Given the description of an element on the screen output the (x, y) to click on. 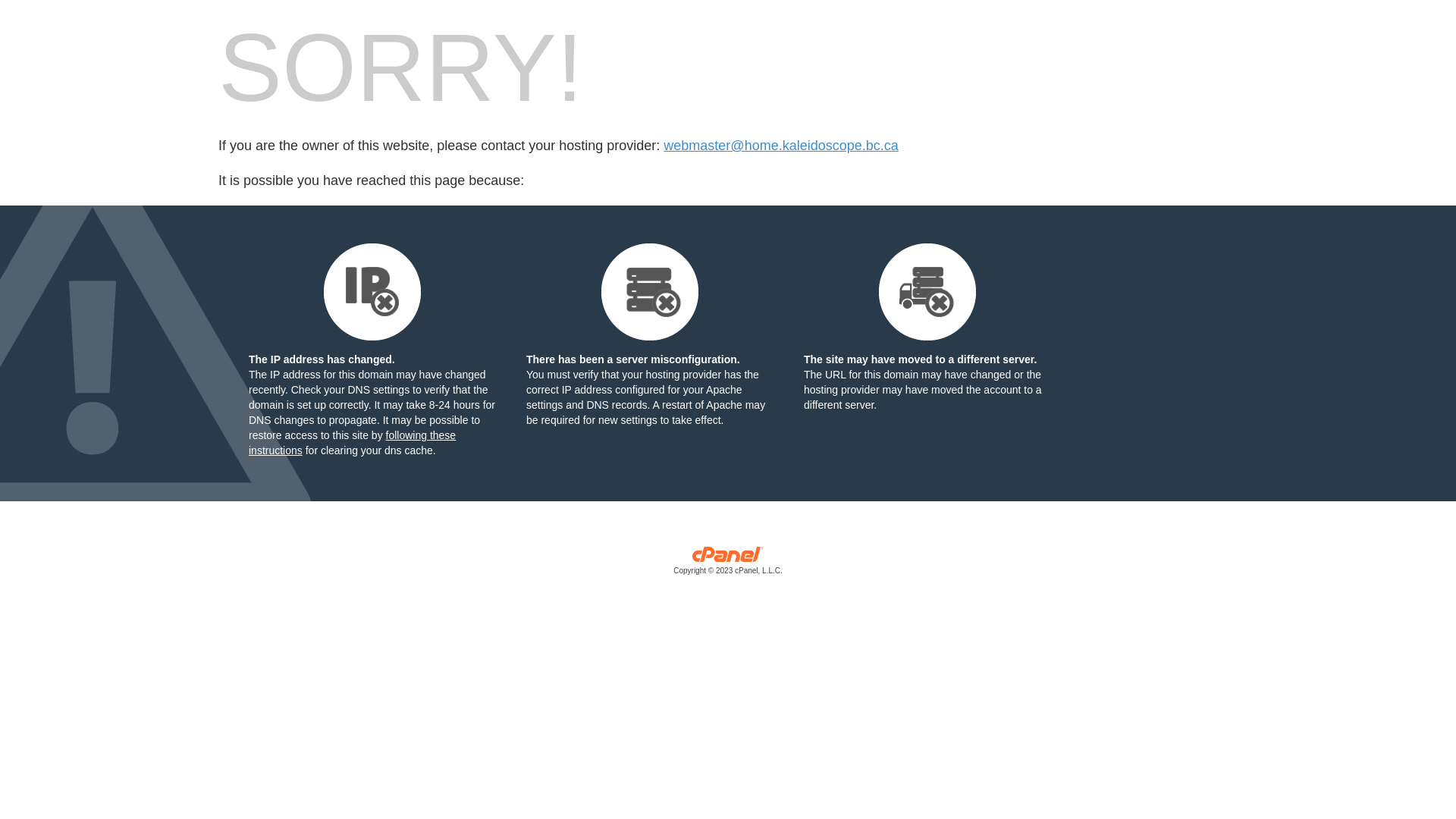
webmaster@home.kaleidoscope.bc.ca Element type: text (780, 145)
following these instructions Element type: text (351, 442)
